Given the description of an element on the screen output the (x, y) to click on. 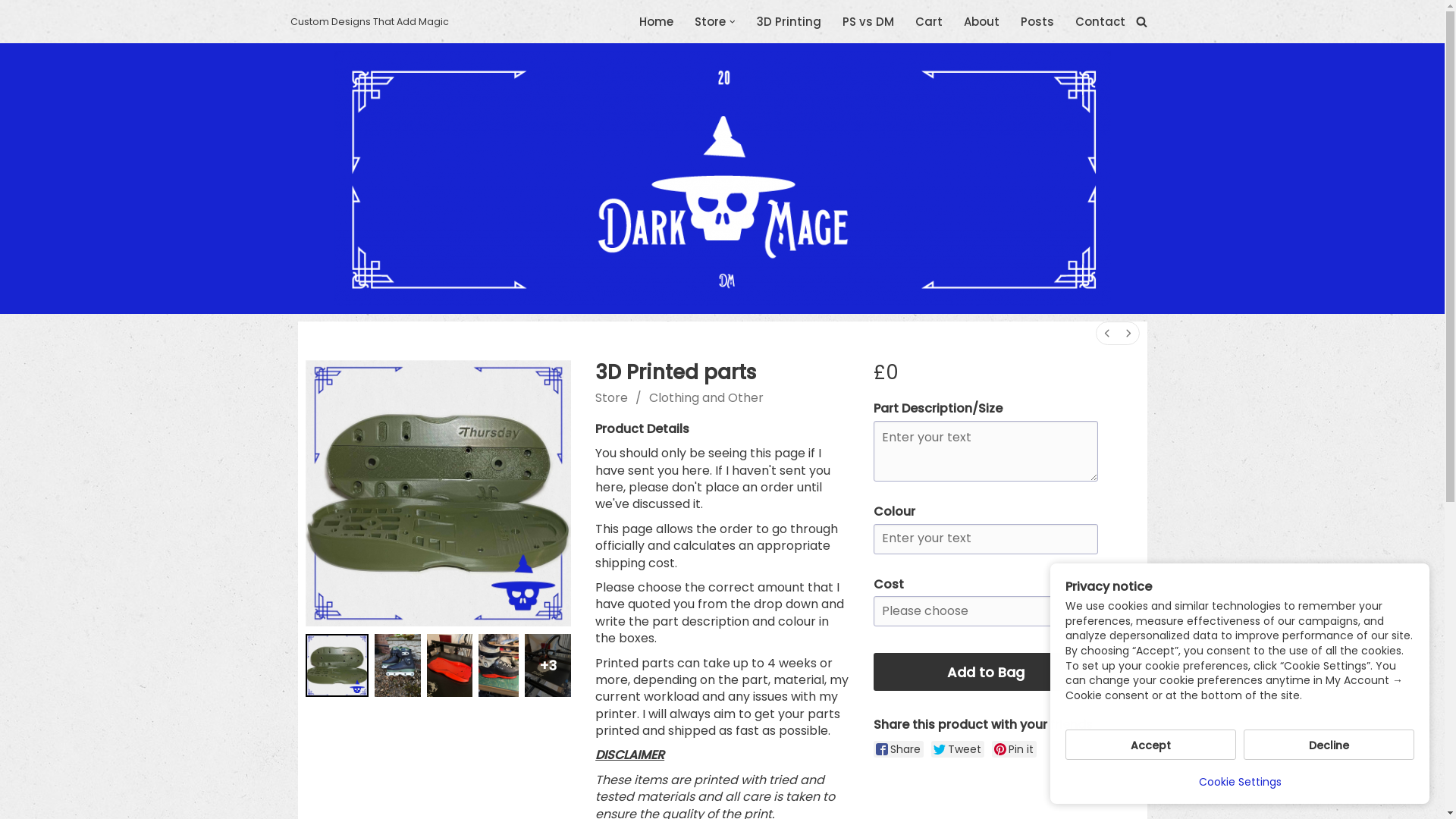
Home Element type: text (656, 21)
Posts Element type: text (1037, 21)
Cookie Settings Element type: text (1239, 781)
Contact Element type: text (1100, 21)
3D Printing Element type: text (788, 21)
Decline Element type: text (1328, 744)
Store Element type: text (611, 397)
Skip to content Element type: text (11, 31)
Share Element type: text (898, 748)
PS vs DM Element type: text (867, 21)
Tweet Element type: text (957, 748)
Store Element type: text (709, 21)
Pin it Element type: text (1013, 748)
About Element type: text (980, 21)
Add to Bag Element type: text (985, 671)
Custom Designs That Add Magic Element type: text (368, 21)
Clothing and Other Element type: text (706, 397)
Cart Element type: text (927, 21)
3D Printed parts Element type: hover (437, 493)
Accept Element type: text (1150, 744)
